Given the description of an element on the screen output the (x, y) to click on. 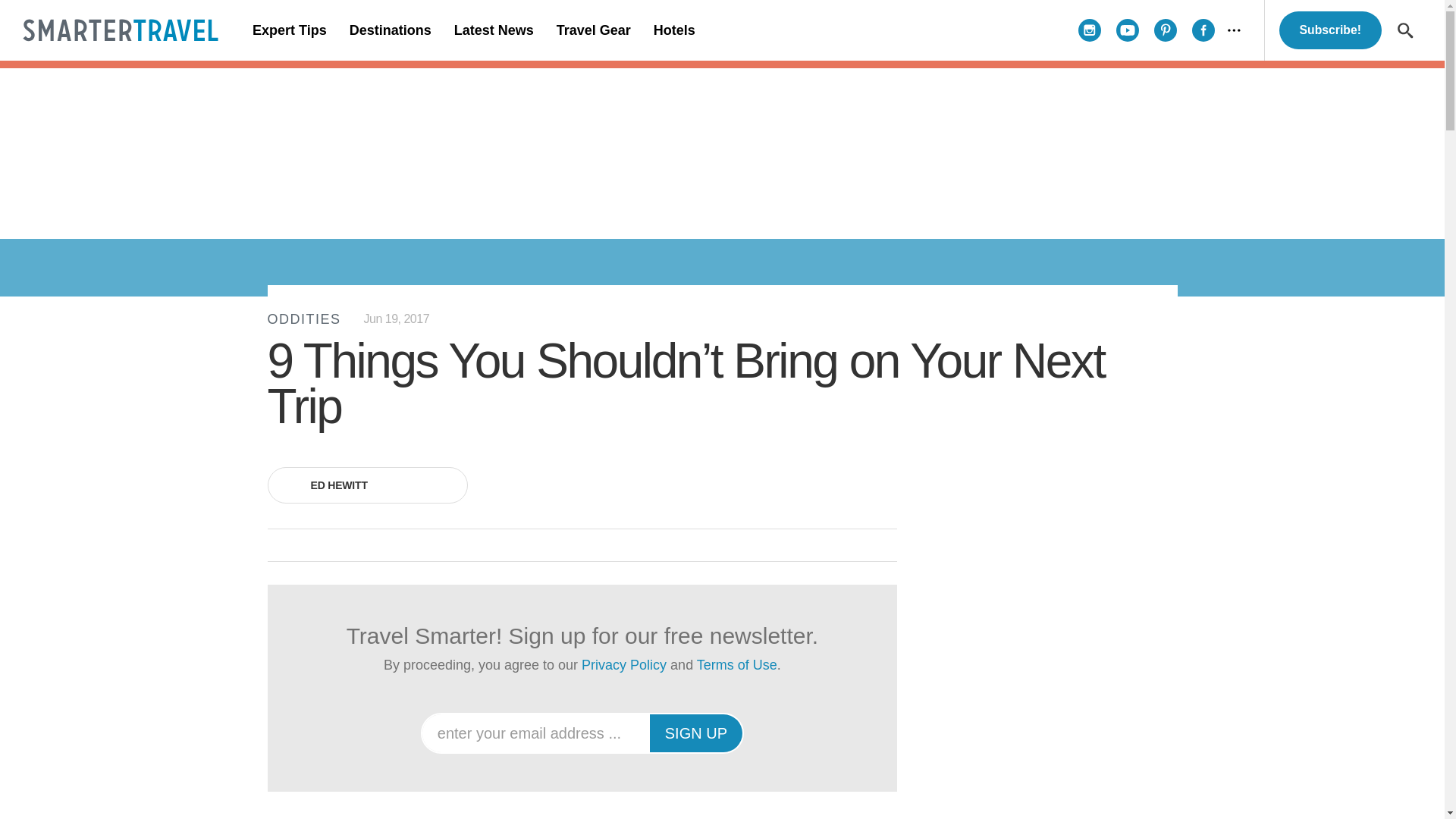
Subscribe! (1330, 30)
Hotels (674, 30)
Expert Tips (289, 30)
Travel Gear (593, 30)
Latest News (493, 30)
Destinations (389, 30)
